Given the description of an element on the screen output the (x, y) to click on. 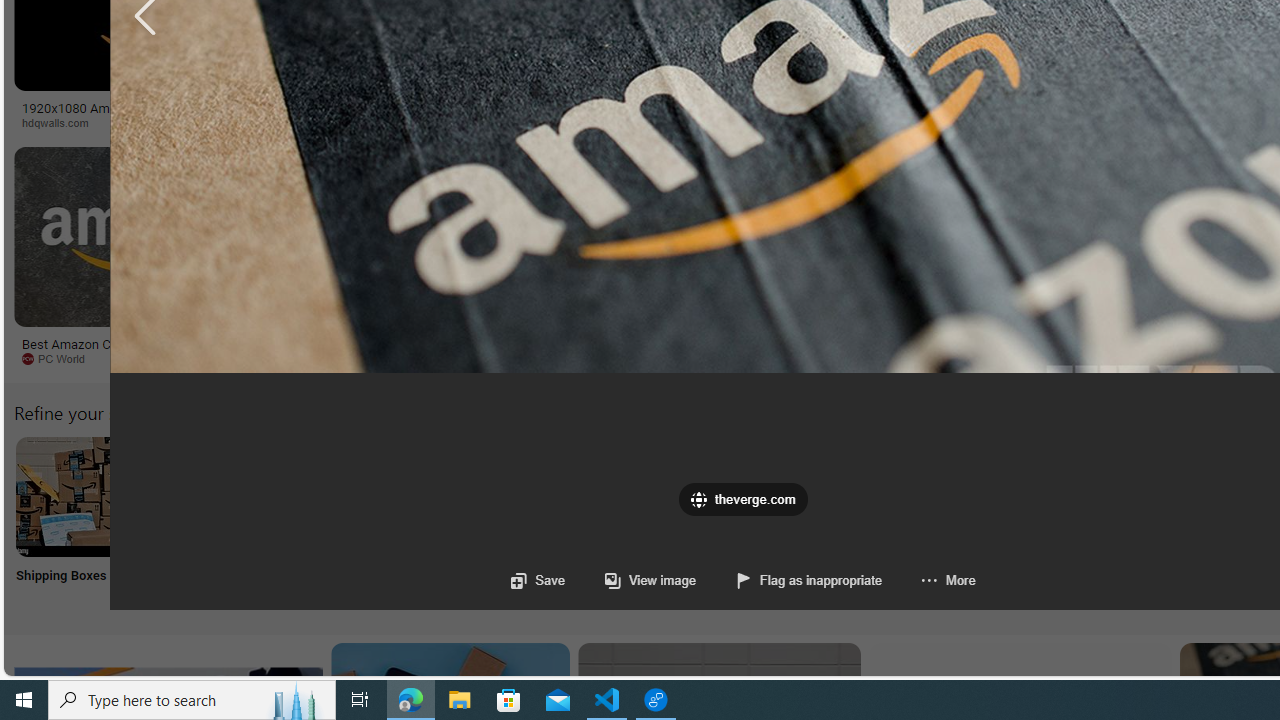
The Verge (419, 359)
Image result for amazon (936, 236)
thewrap.com (826, 358)
Amazon Online Shopping Search (207, 496)
PC World (146, 359)
Log into My Account (472, 521)
Amazon Clip Art (339, 496)
PC World (59, 358)
Wish List (999, 521)
Online Shopping Search (207, 521)
Long Island Press (1105, 123)
Jobs Near Me (604, 521)
